Given the description of an element on the screen output the (x, y) to click on. 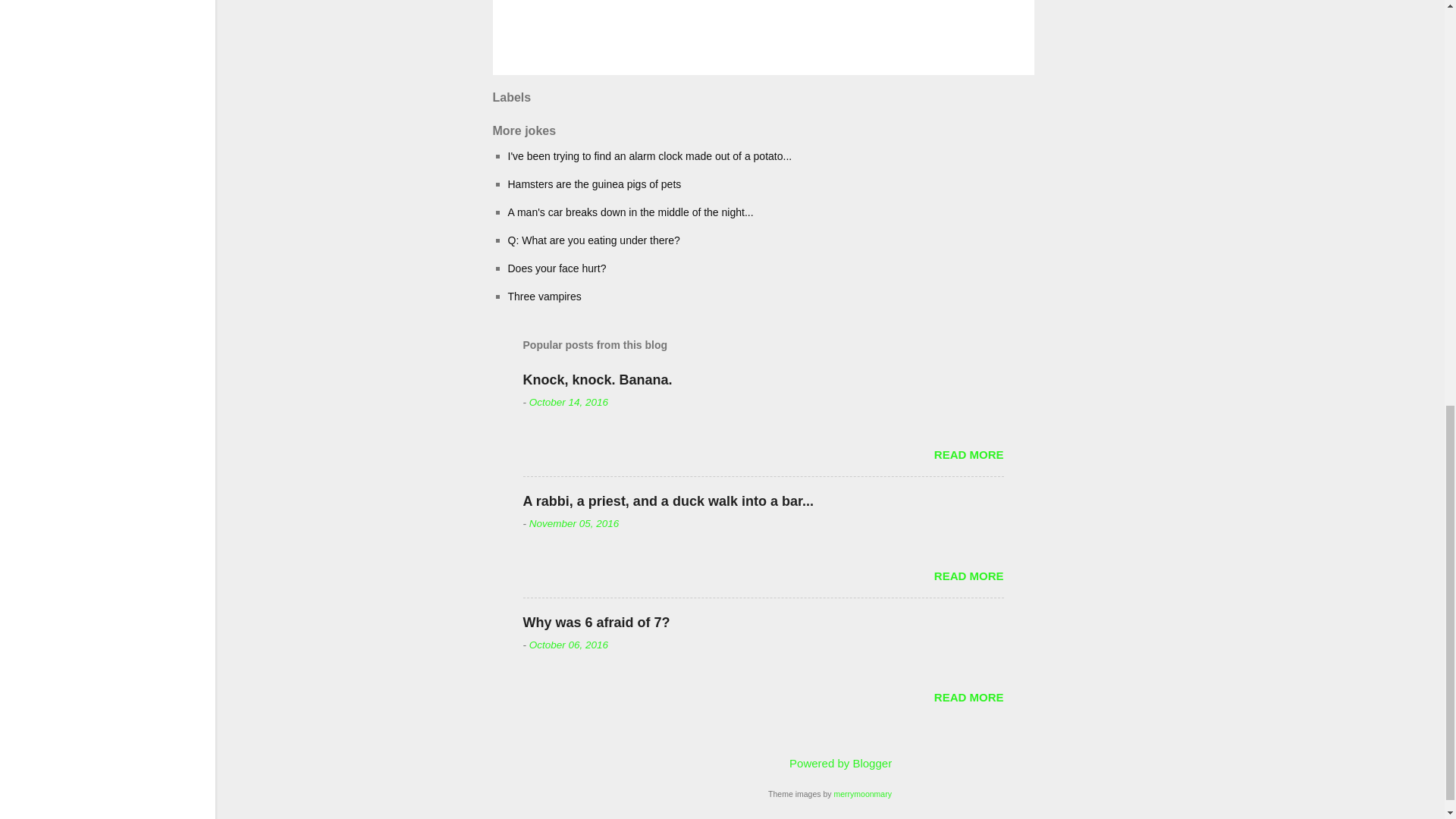
Advertisement (1118, 98)
